Given the description of an element on the screen output the (x, y) to click on. 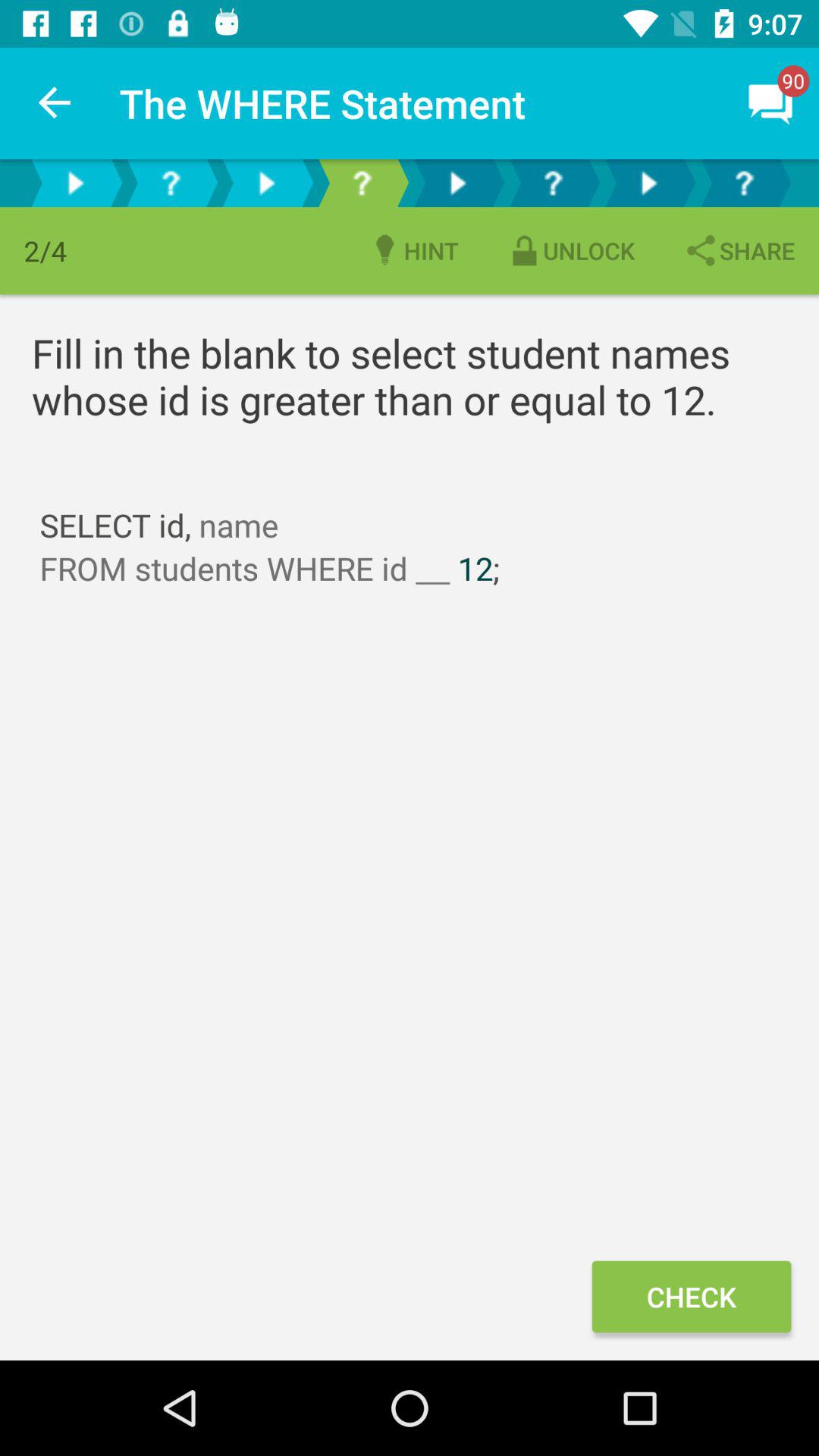
proceed to the next question (74, 183)
